Given the description of an element on the screen output the (x, y) to click on. 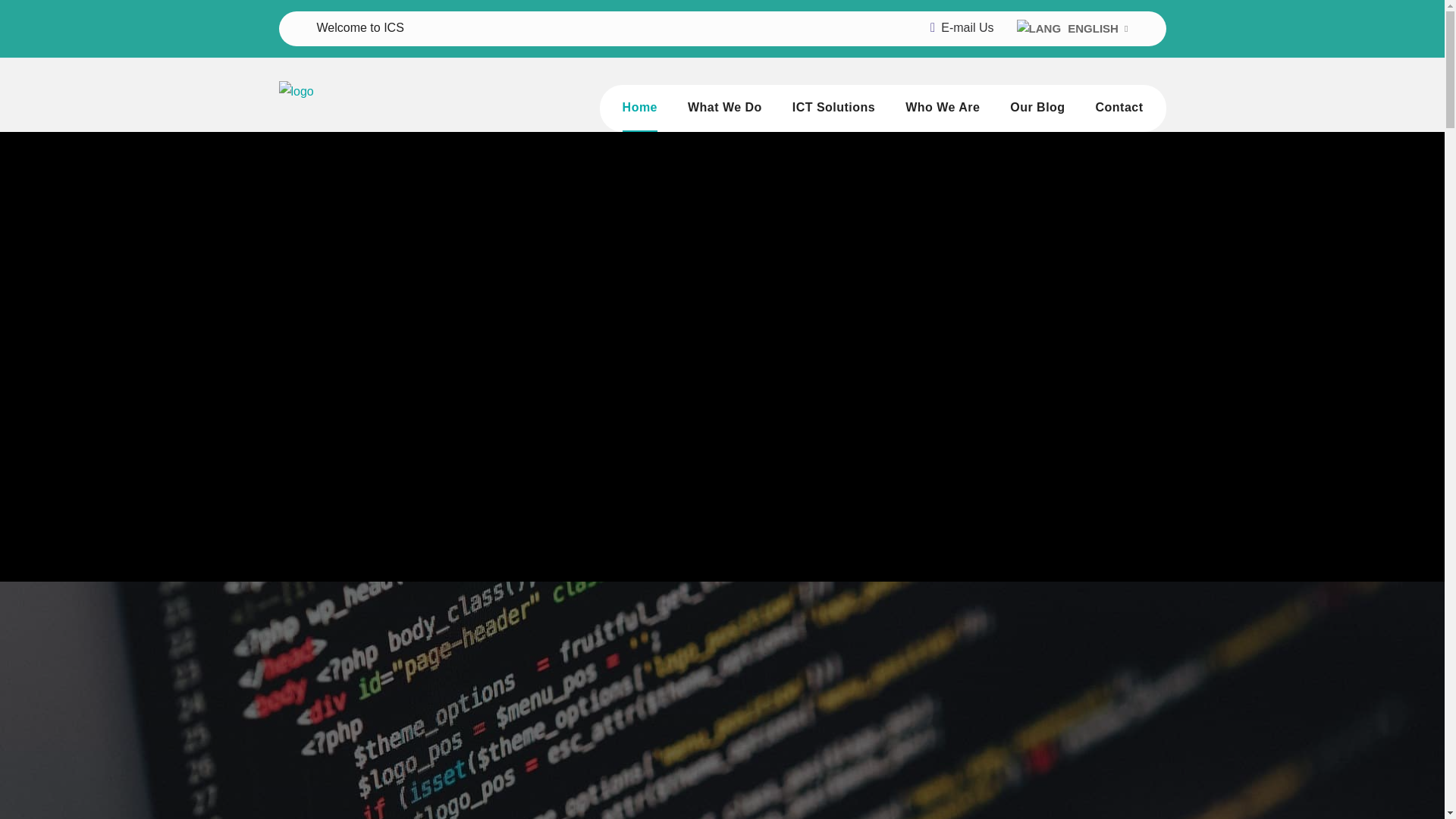
ICT Solutions (833, 107)
What We Do (724, 107)
Our Blog (1037, 107)
Search Now! (1016, 177)
English (1038, 28)
Who We Are (942, 107)
ICT Solutions (833, 107)
Contact (1119, 107)
What We Do (724, 107)
E-mail Us (966, 27)
